Given the description of an element on the screen output the (x, y) to click on. 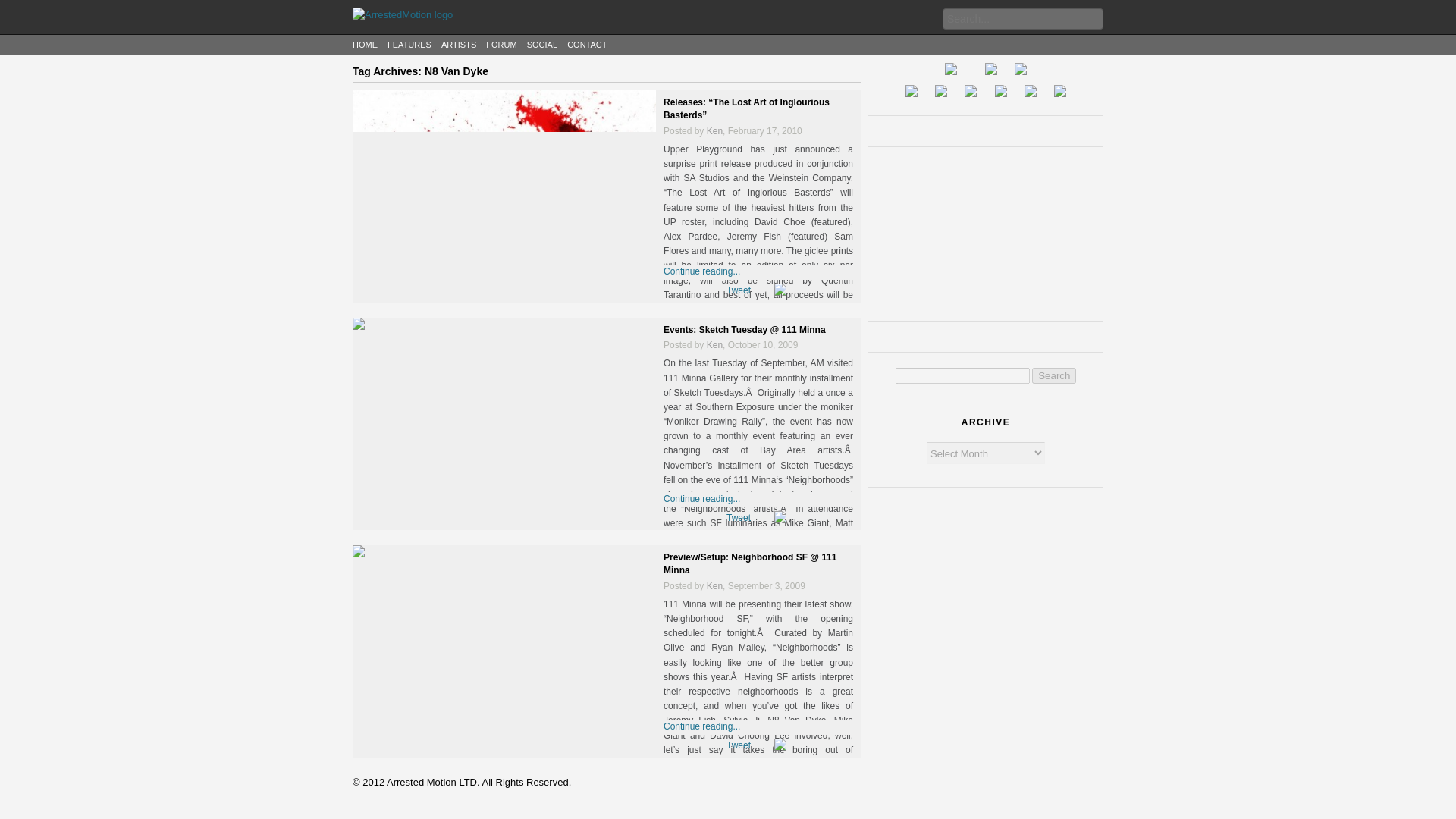
Search (1053, 375)
SOCIAL (542, 44)
Tweet (738, 517)
Search (1053, 375)
FORUM (501, 44)
CONTACT (587, 44)
FEATURES (408, 44)
Tweet (738, 290)
ARTISTS (458, 44)
HOME (364, 44)
